Given the description of an element on the screen output the (x, y) to click on. 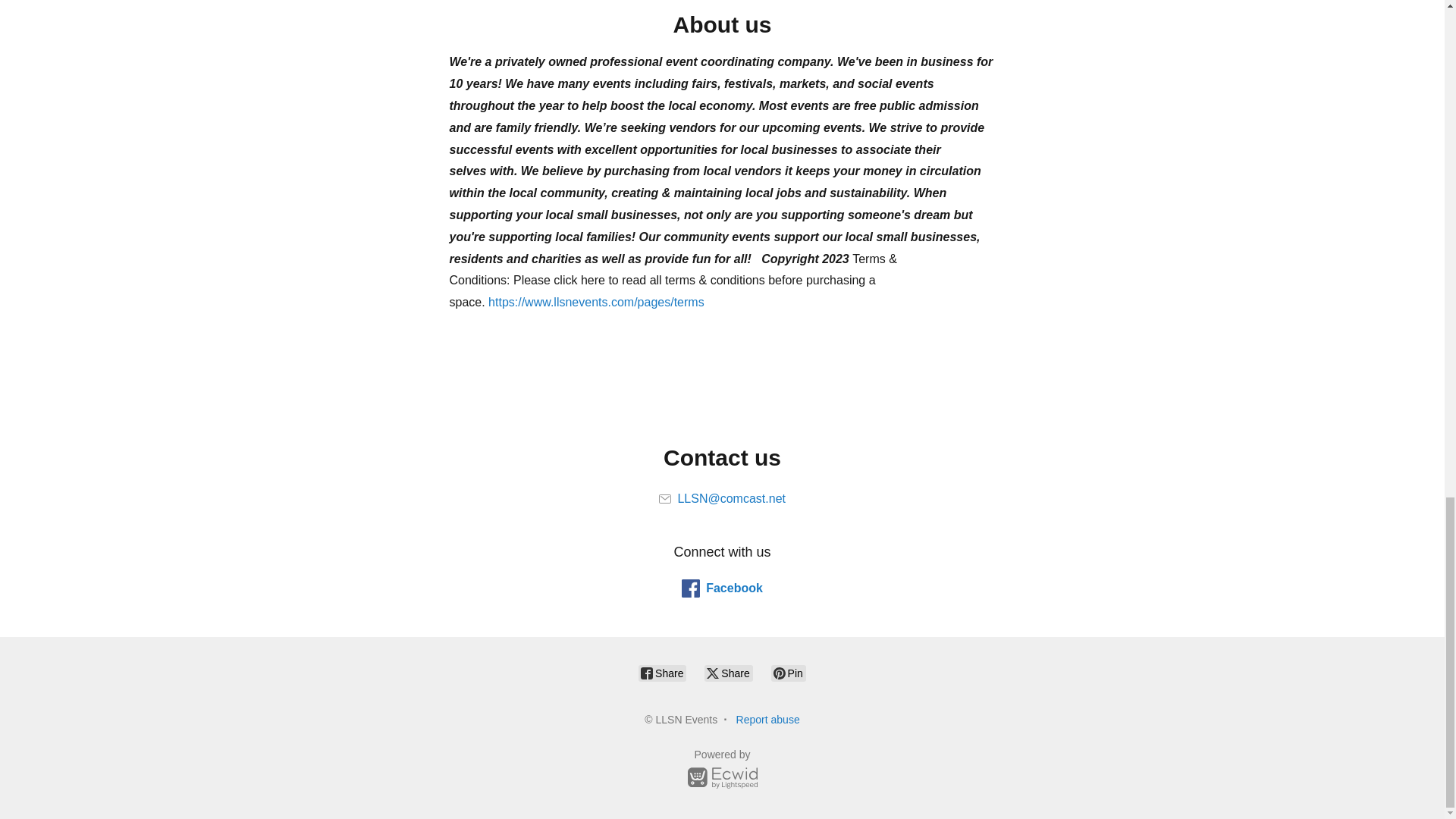
Pin (788, 673)
Share (662, 673)
Report abuse (767, 719)
Powered by (722, 771)
Facebook (721, 588)
Share (728, 673)
